Given the description of an element on the screen output the (x, y) to click on. 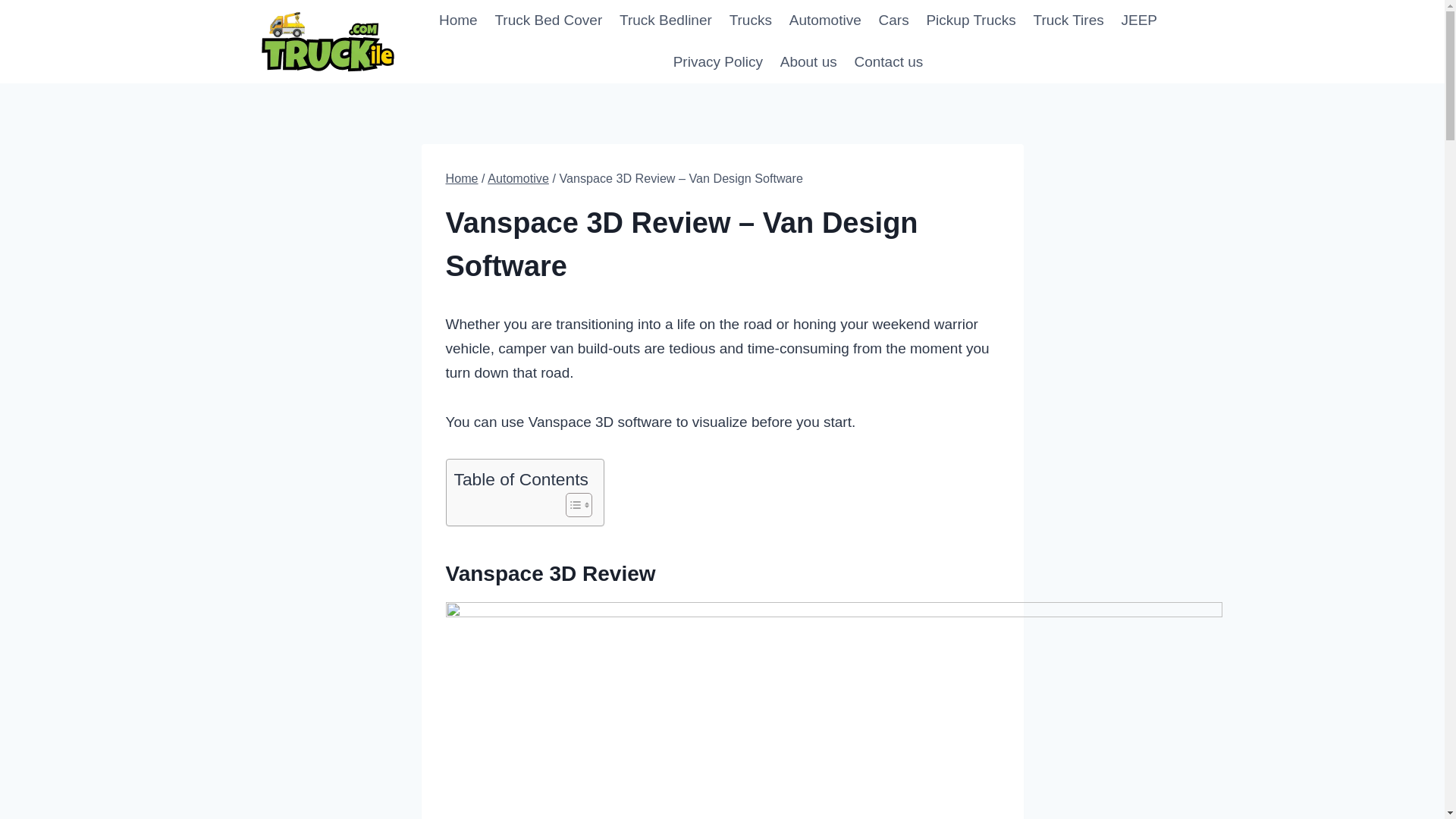
Automotive (517, 178)
Pickup Trucks (971, 20)
Home (458, 20)
Truck Tires (1068, 20)
Truck Bedliner (665, 20)
Privacy Policy (717, 62)
Trucks (750, 20)
Cars (893, 20)
Home (462, 178)
About us (808, 62)
Truck Bed Cover (548, 20)
Automotive (824, 20)
Contact us (888, 62)
JEEP (1139, 20)
